Given the description of an element on the screen output the (x, y) to click on. 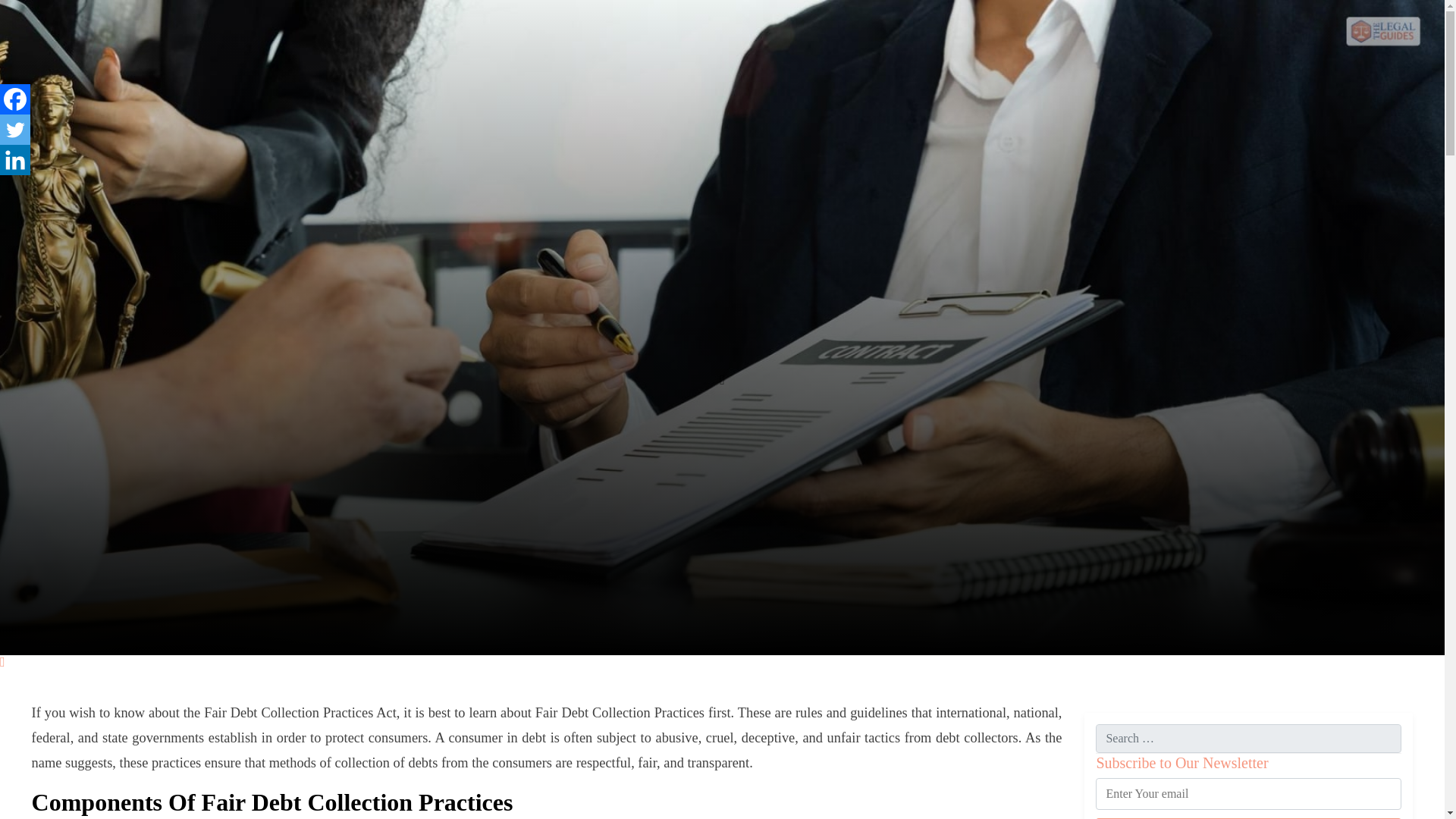
Facebook (15, 99)
Linkedin (15, 159)
Twitter (15, 129)
